Given the description of an element on the screen output the (x, y) to click on. 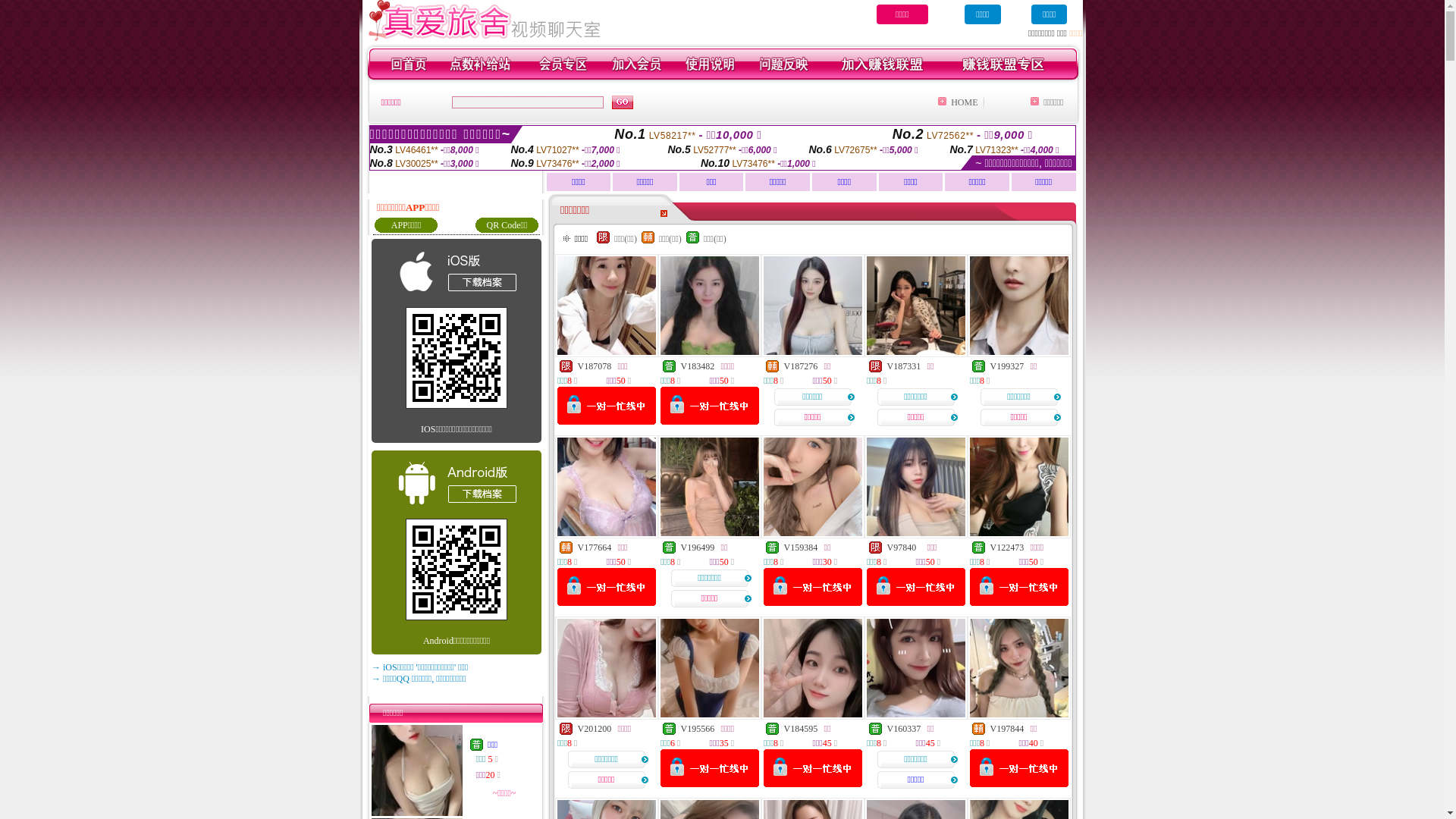
HOME Element type: text (963, 102)
